Given the description of an element on the screen output the (x, y) to click on. 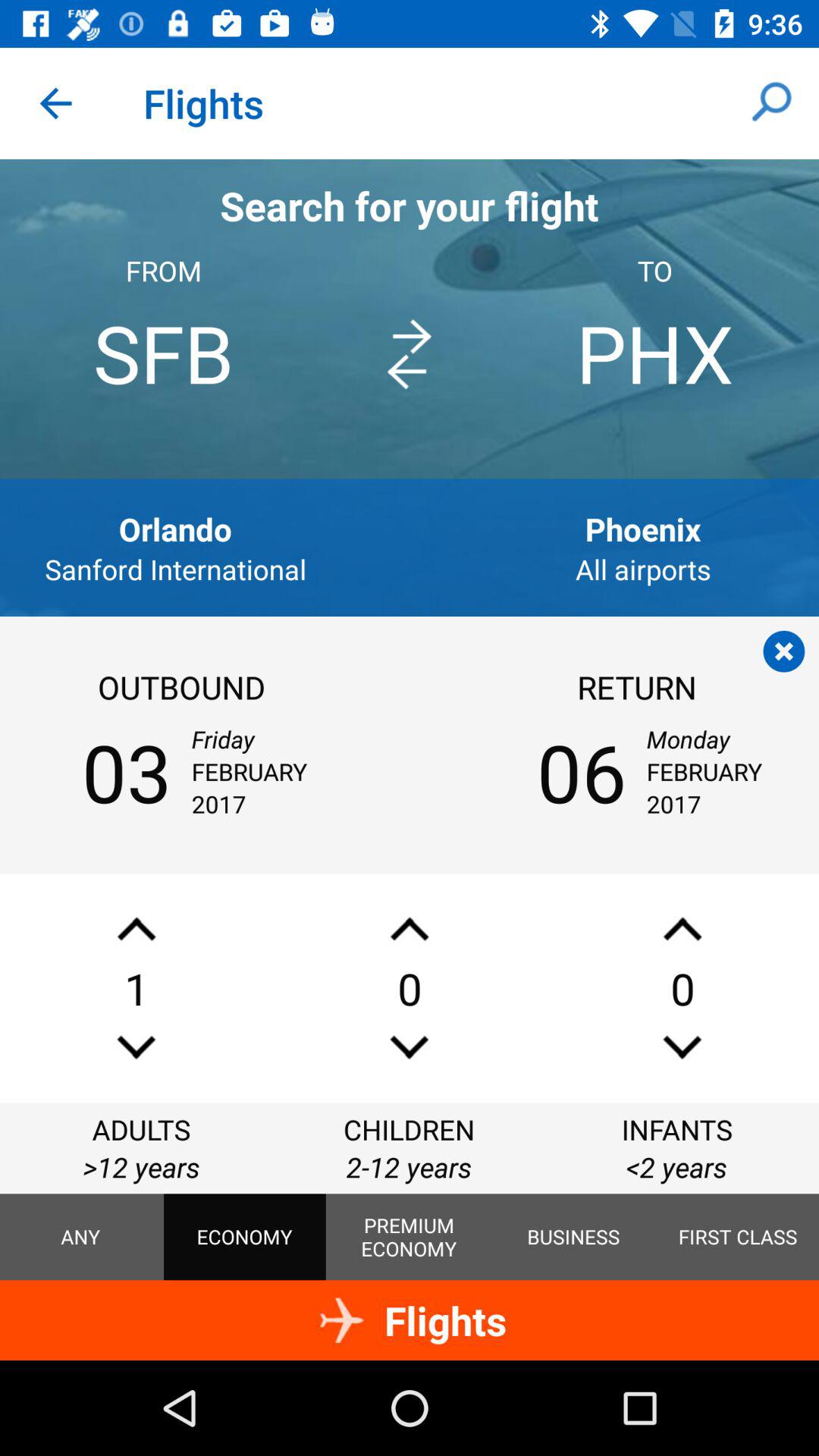
jump to the premium economy icon (409, 1236)
